Given the description of an element on the screen output the (x, y) to click on. 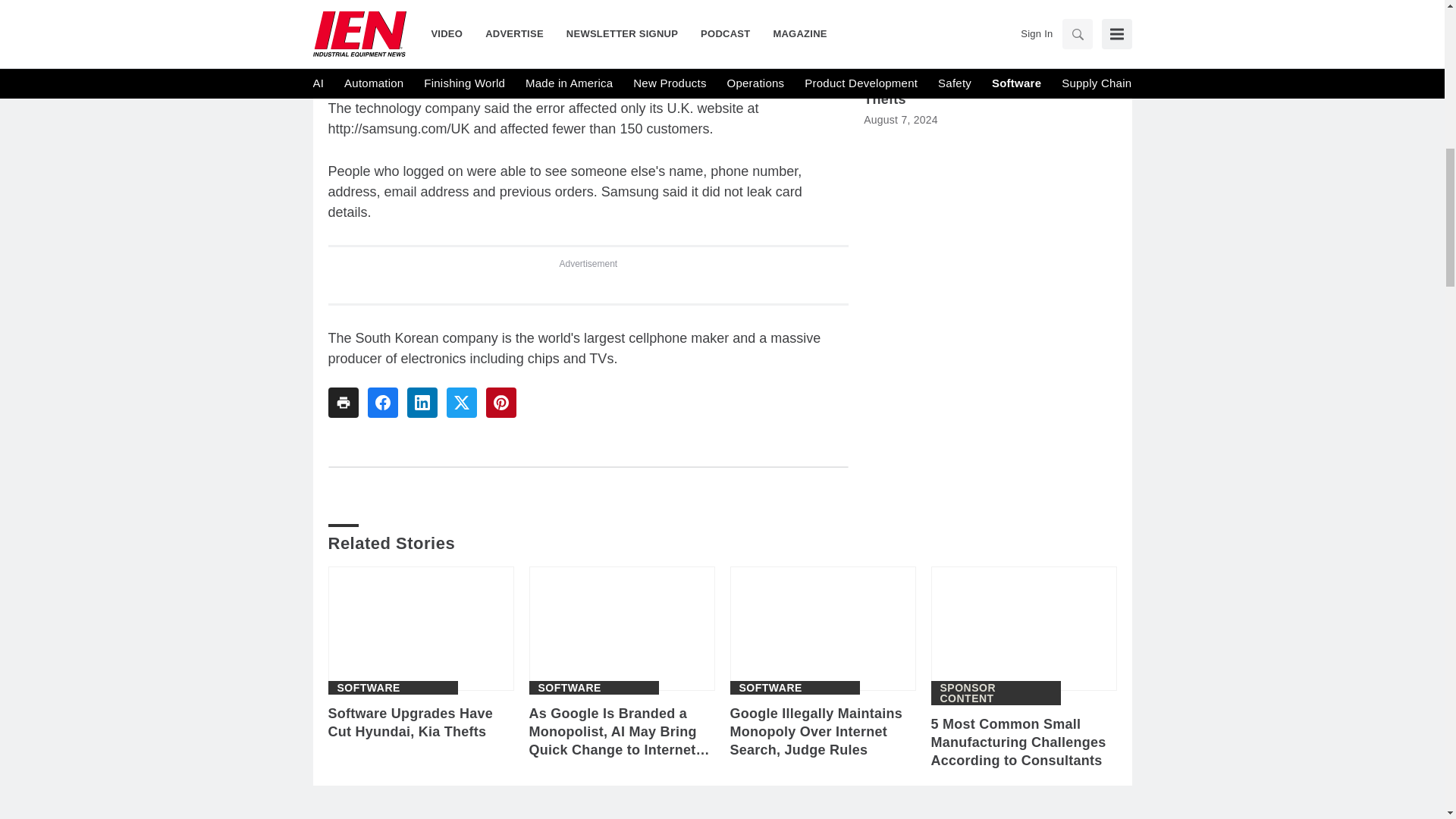
Share To print (342, 402)
Share To facebook (381, 402)
Share To twitter (460, 402)
Share To pinterest (499, 402)
Share To linkedin (421, 402)
